Given the description of an element on the screen output the (x, y) to click on. 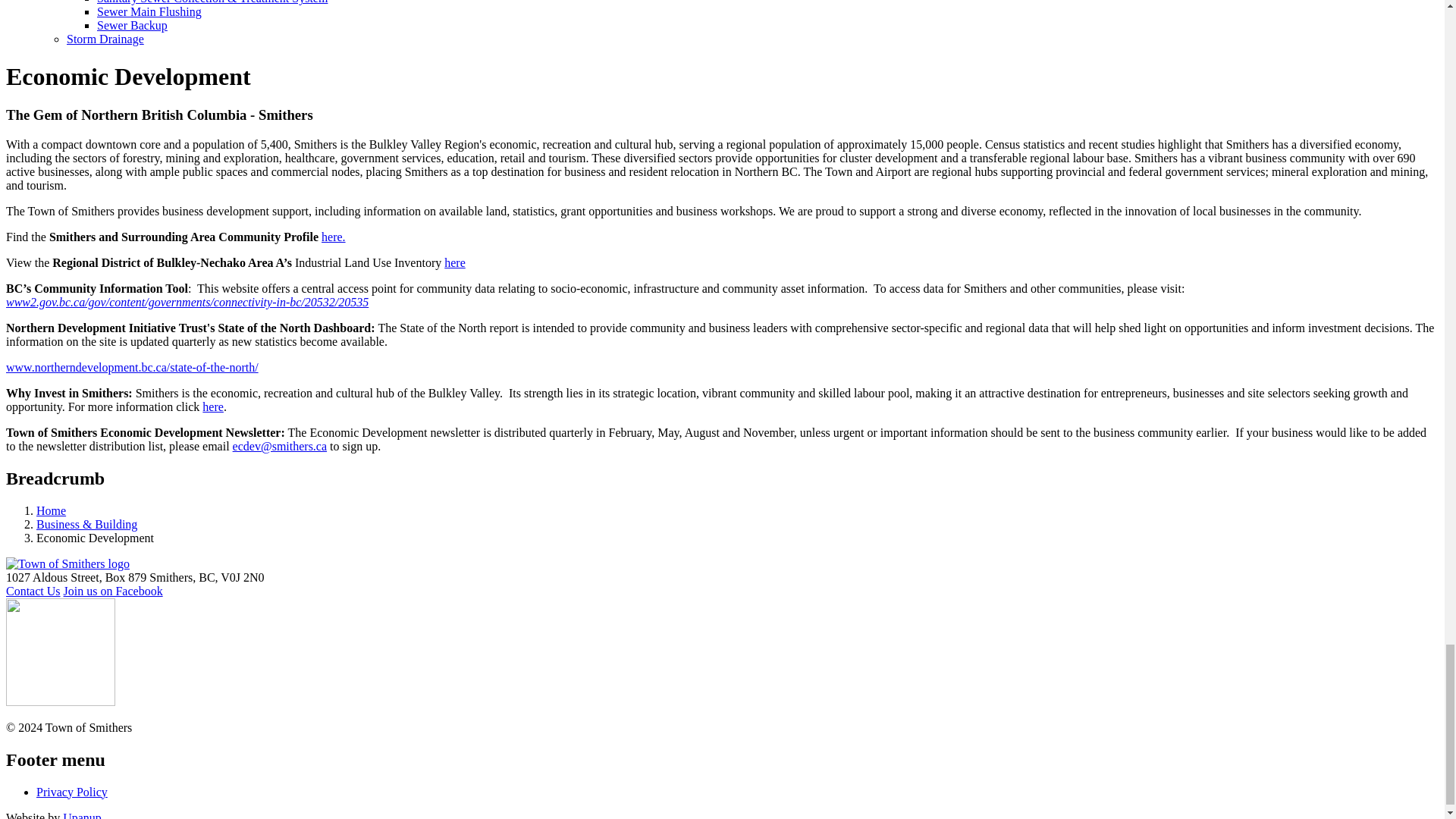
Why Invest in Smithers? (213, 406)
Town of Smithers (67, 563)
Smithers Community Profile 2024 (333, 236)
